Given the description of an element on the screen output the (x, y) to click on. 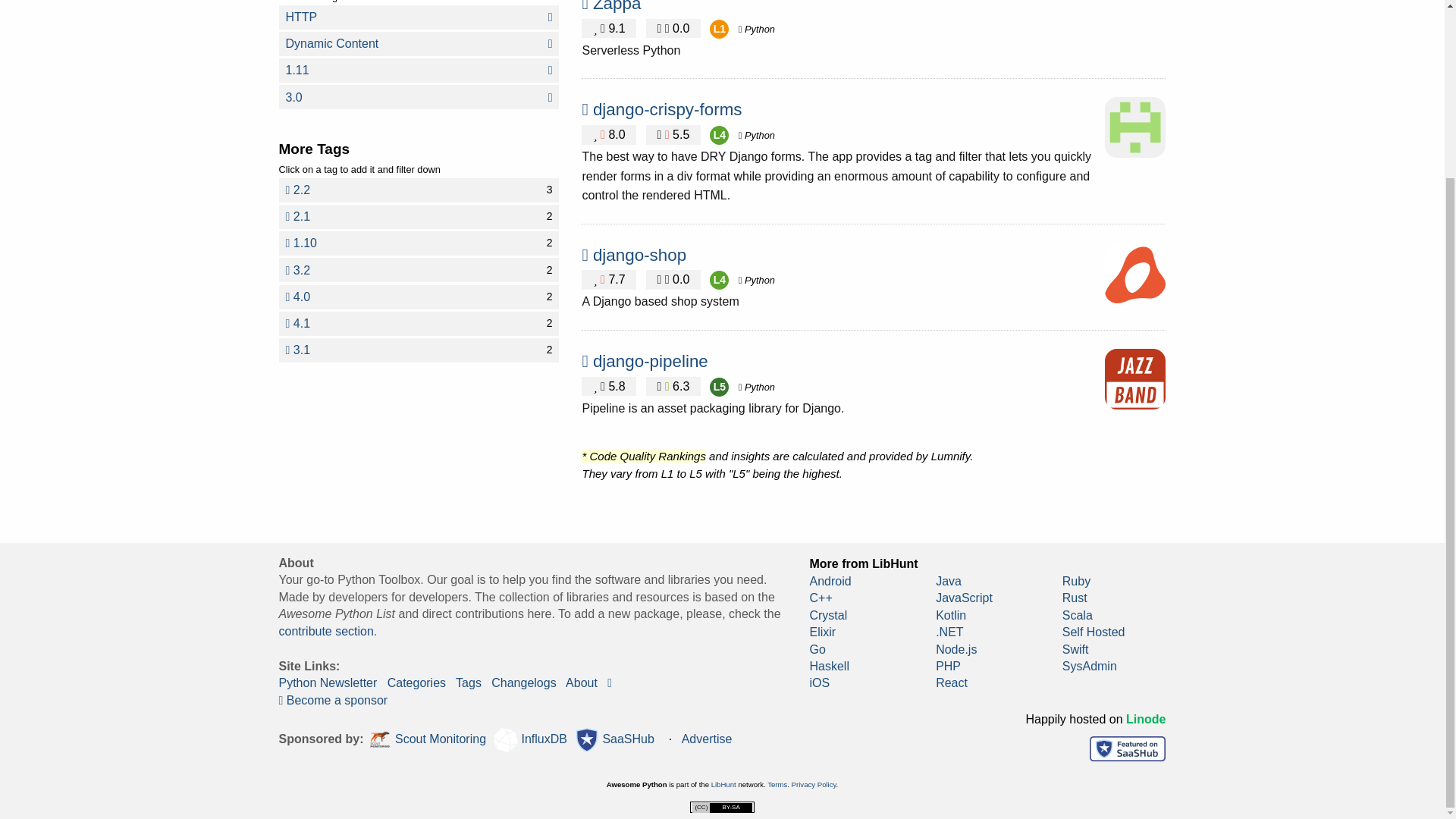
1.11 (418, 70)
Primary programming language (756, 29)
django-shop (638, 254)
Zappa (418, 216)
Code Quality Rank provided by Lumnify (617, 6)
Primary programming language (719, 135)
Code Quality Rank provided by Lumnify (756, 134)
3.0 (418, 242)
Dynamic Content (719, 28)
Code Quality Rank provided by Lumnify (418, 297)
